Given the description of an element on the screen output the (x, y) to click on. 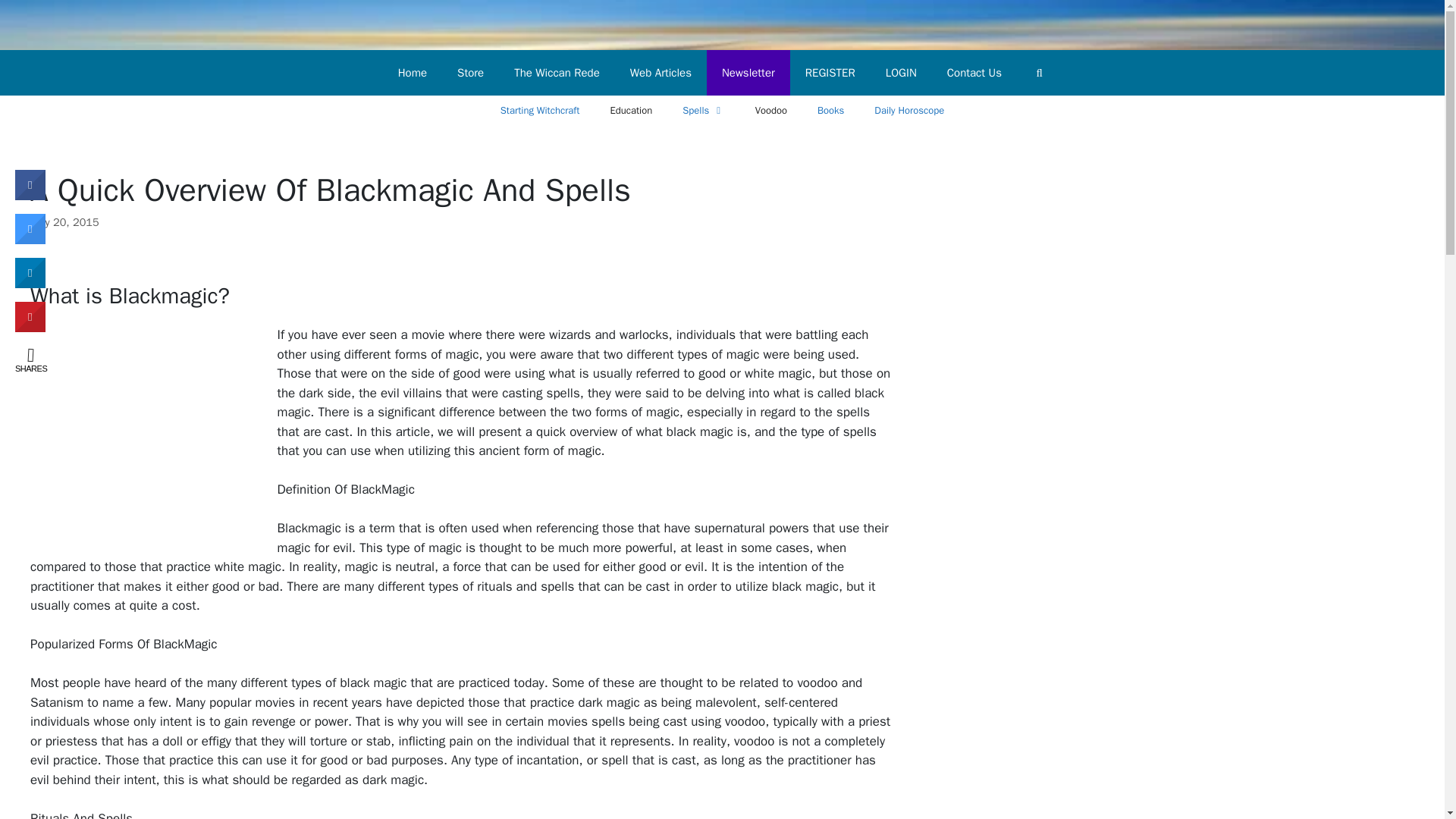
Witchcraft Education and Learning (630, 110)
Home (412, 72)
Witchcraft Books (830, 110)
Books (830, 110)
Daily Horoscope (909, 110)
Contact Learning Witchcraft (973, 72)
Store (470, 72)
Newsletter (748, 72)
Education (630, 110)
LOGIN (900, 72)
